Given the description of an element on the screen output the (x, y) to click on. 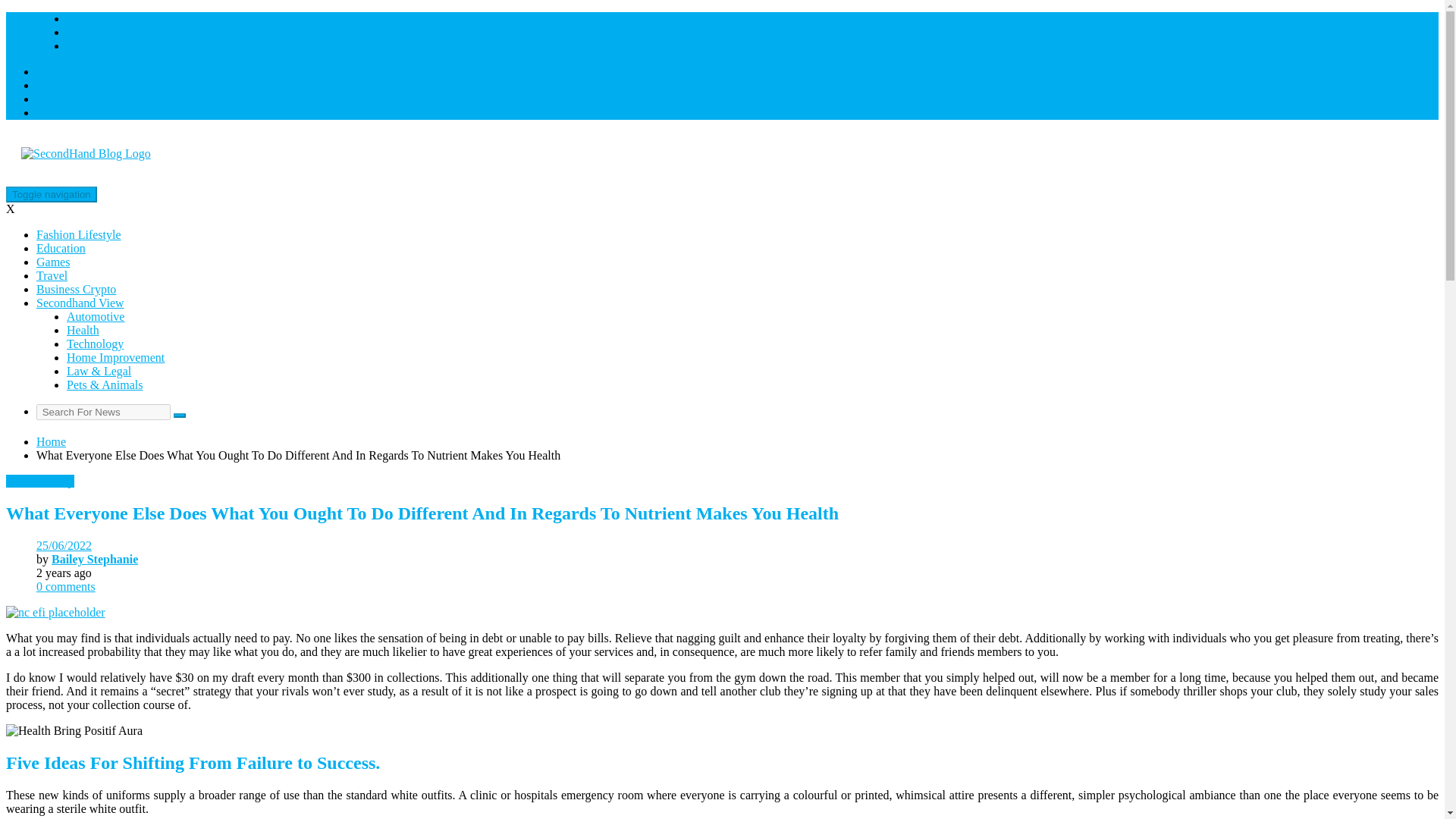
Health (82, 329)
Toggle navigation (51, 194)
Automotive (94, 316)
Home Improvement (115, 357)
Disclosure Policy (109, 31)
Business Crypto (76, 288)
healthy (56, 481)
Fashion Lifestyle (78, 234)
Facebook (59, 71)
